Given the description of an element on the screen output the (x, y) to click on. 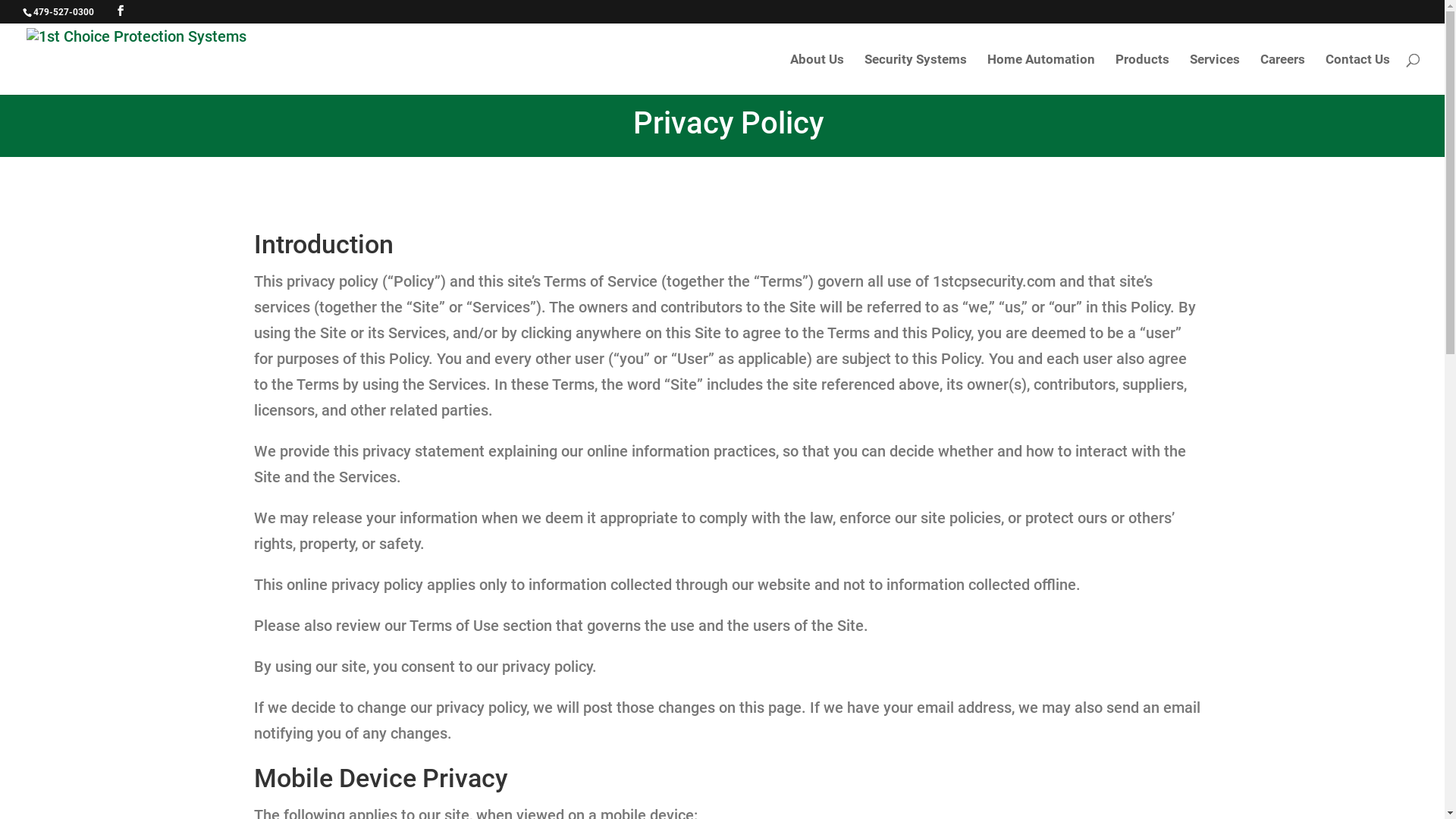
Security Systems Element type: text (915, 73)
Products Element type: text (1142, 73)
Careers Element type: text (1282, 73)
About Us Element type: text (817, 73)
Home Automation Element type: text (1041, 73)
Contact Us Element type: text (1357, 73)
Services Element type: text (1214, 73)
